Given the description of an element on the screen output the (x, y) to click on. 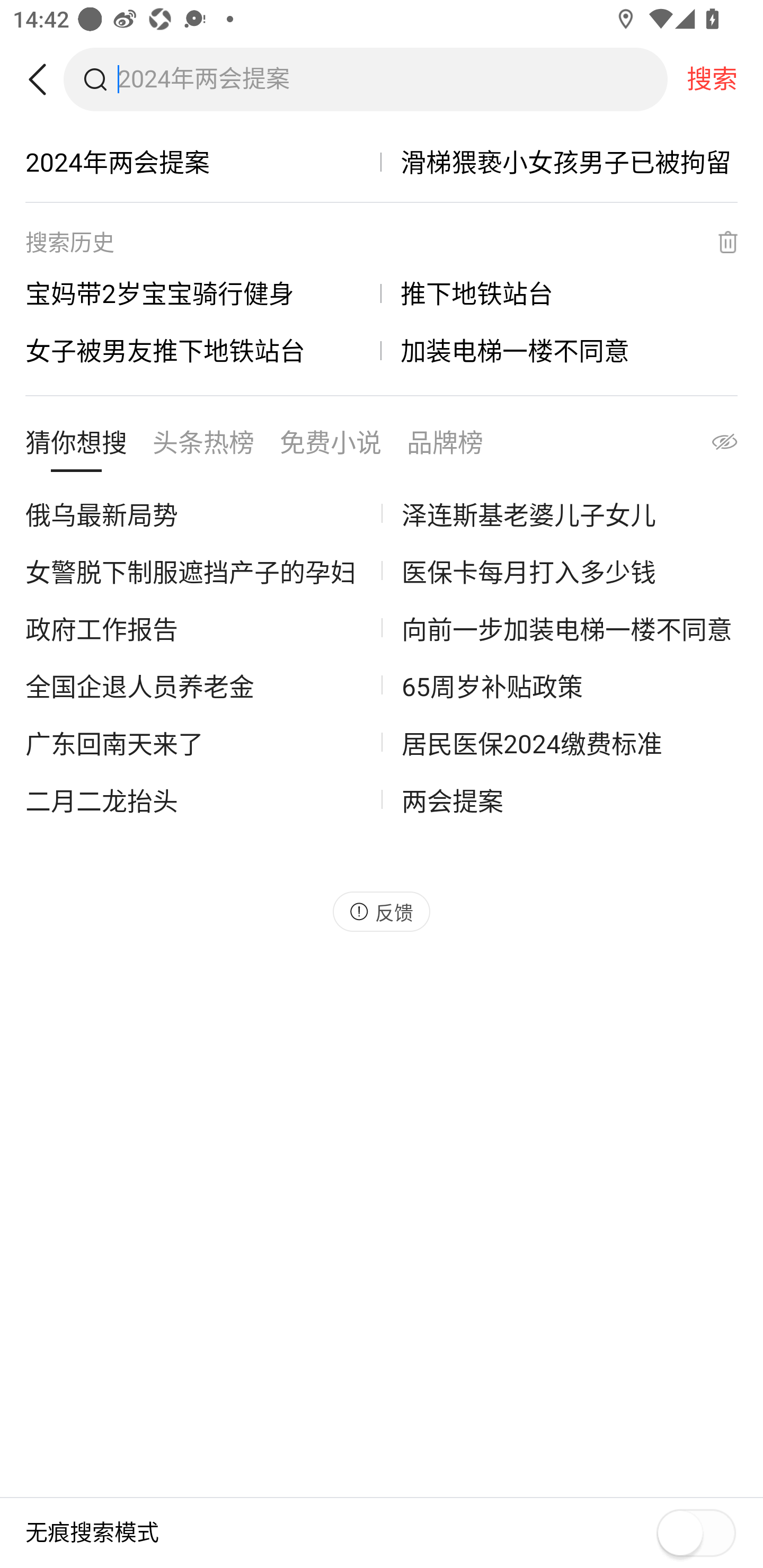
搜索框，2024年两会提案 (392, 79)
搜索 (711, 79)
返回 (44, 79)
2024年两会提案，链接, 2024年两会提案 (203, 162)
滑梯猥亵小女孩男子已被拘留，链接, 滑梯猥亵小女孩男子已被拘留 (559, 162)
删除搜索历史 (716, 242)
宝妈带2岁宝宝骑行健身，链接, 宝妈带2岁宝宝骑行健身 (203, 292)
推下地铁站台，链接, 推下地铁站台 (559, 292)
女子被男友推下地铁站台，链接, 女子被男友推下地铁站台 (203, 350)
加装电梯一楼不同意，链接, 加装电梯一楼不同意 (559, 350)
猜你想搜 按钮 已选中 (76, 446)
头条热榜 按钮 (203, 446)
免费小说 按钮 (330, 446)
品牌榜 按钮 (444, 446)
隐藏全部推荐词内容 按钮 (706, 446)
反馈, 按钮 (381, 911)
